Given the description of an element on the screen output the (x, y) to click on. 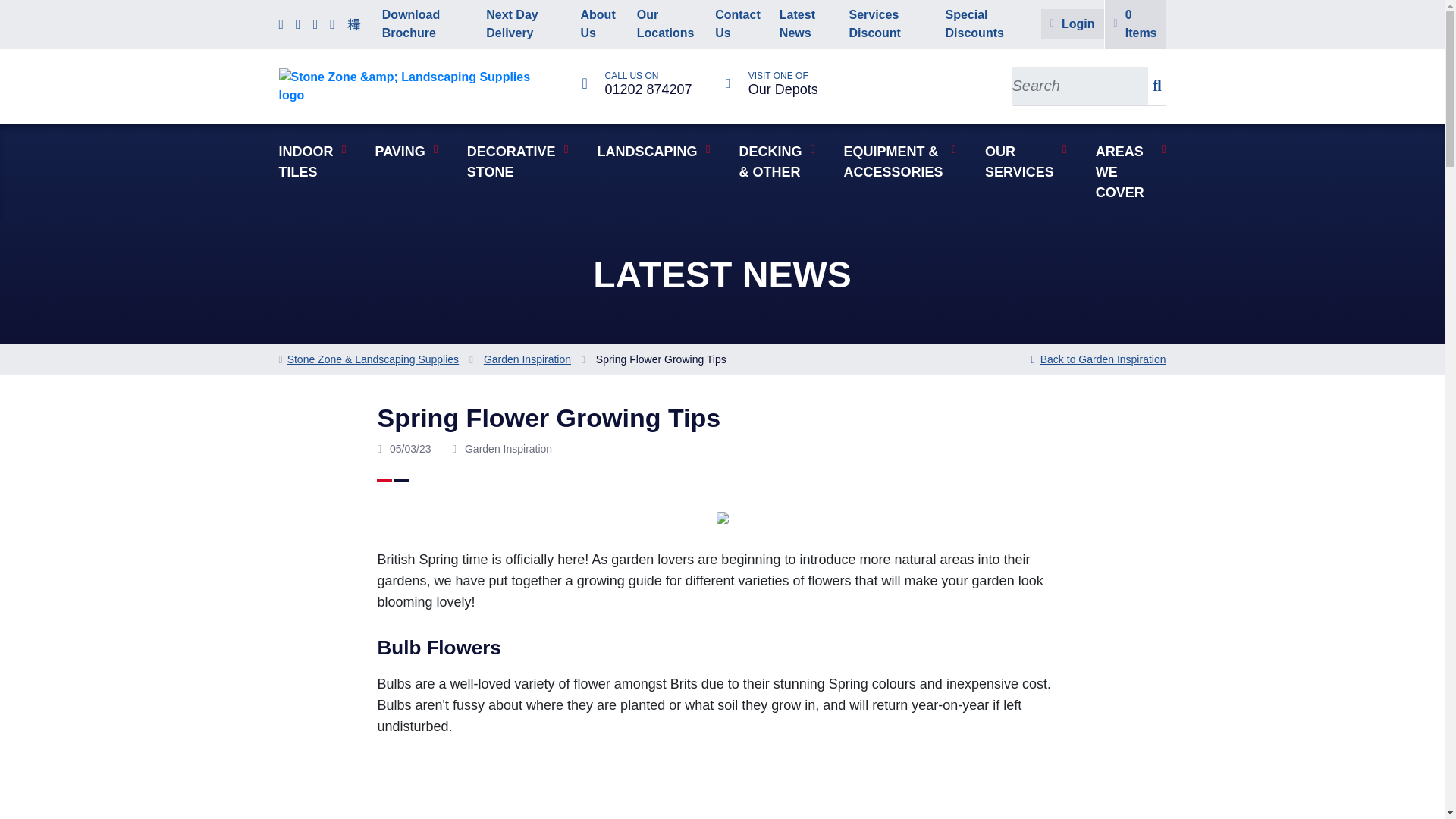
Download Brochure (424, 24)
Latest News (637, 82)
About Us (805, 24)
0 Items (599, 24)
Contact Us (1135, 24)
Next Day Delivery (738, 24)
Our Locations (523, 24)
Login (666, 24)
